Given the description of an element on the screen output the (x, y) to click on. 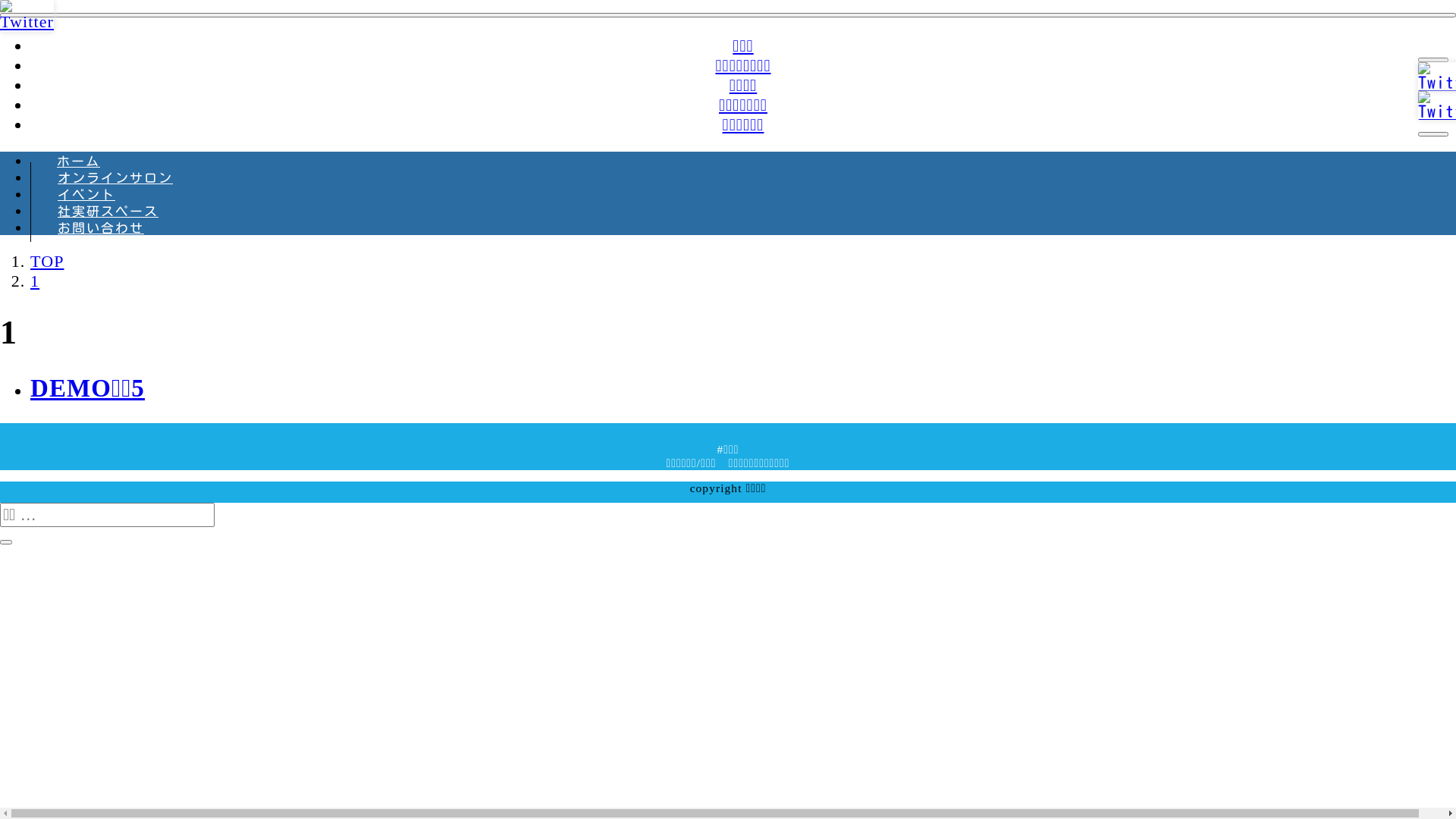
1 Element type: text (34, 280)
TOP Element type: text (46, 260)
